Given the description of an element on the screen output the (x, y) to click on. 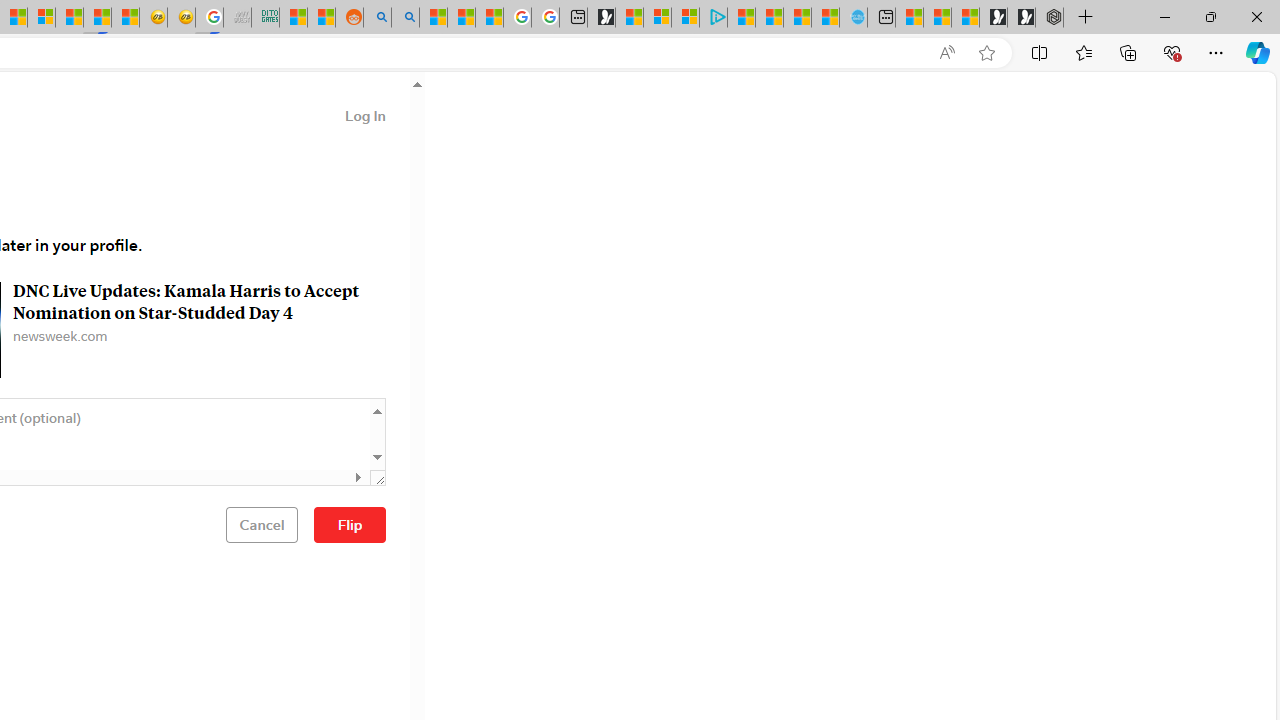
Microsoft account | Privacy (685, 17)
Cancel (262, 524)
MSN (97, 17)
Play Free Online Games | Games from Microsoft Start (1021, 17)
Nordace - Nordace Siena Is Not An Ordinary Backpack (1049, 17)
Utah sues federal government - Search (404, 17)
